Given the description of an element on the screen output the (x, y) to click on. 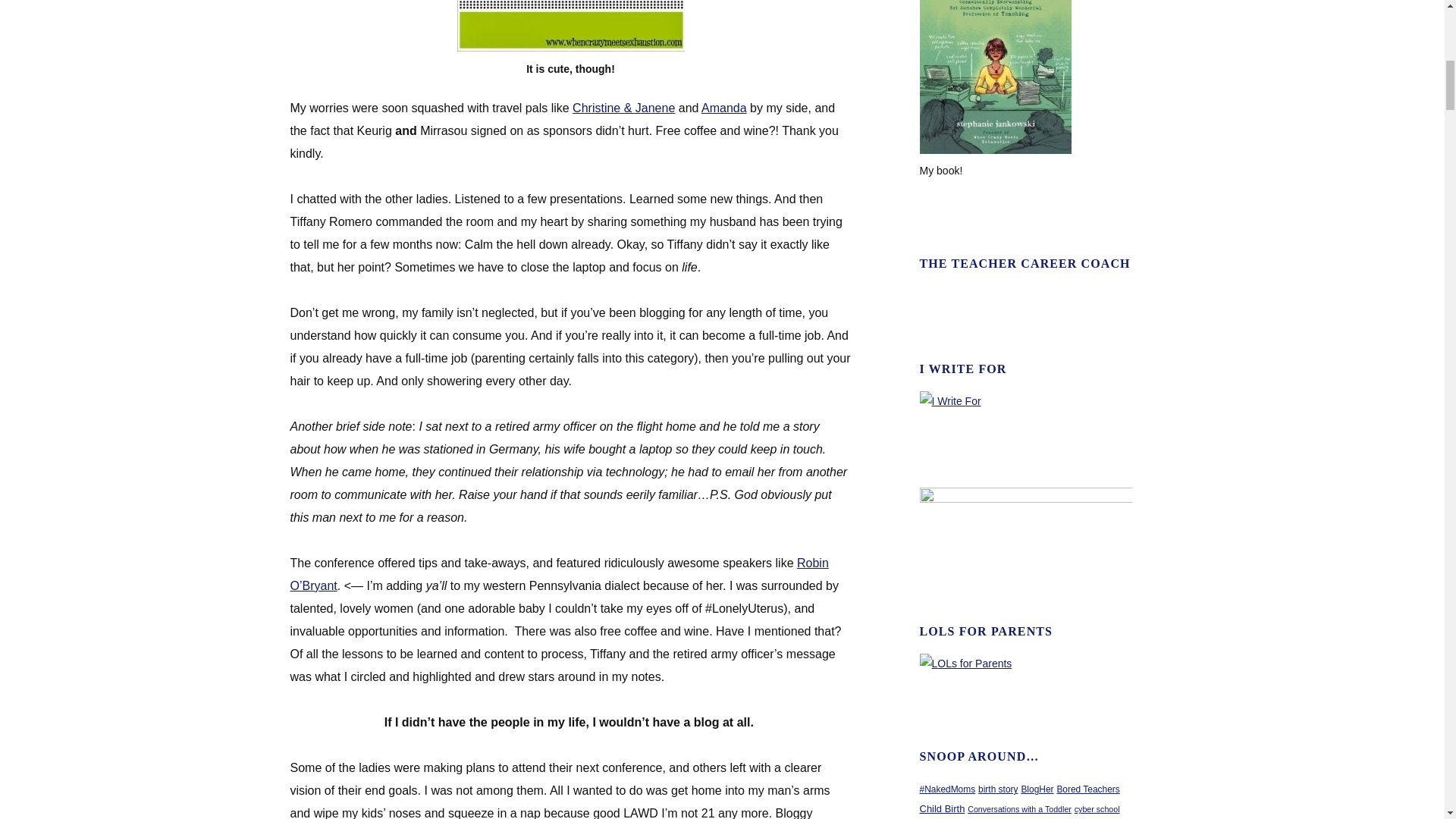
Amanda (723, 107)
Schooled (995, 150)
I Write For (950, 400)
LOLs for Parents (965, 663)
